Given the description of an element on the screen output the (x, y) to click on. 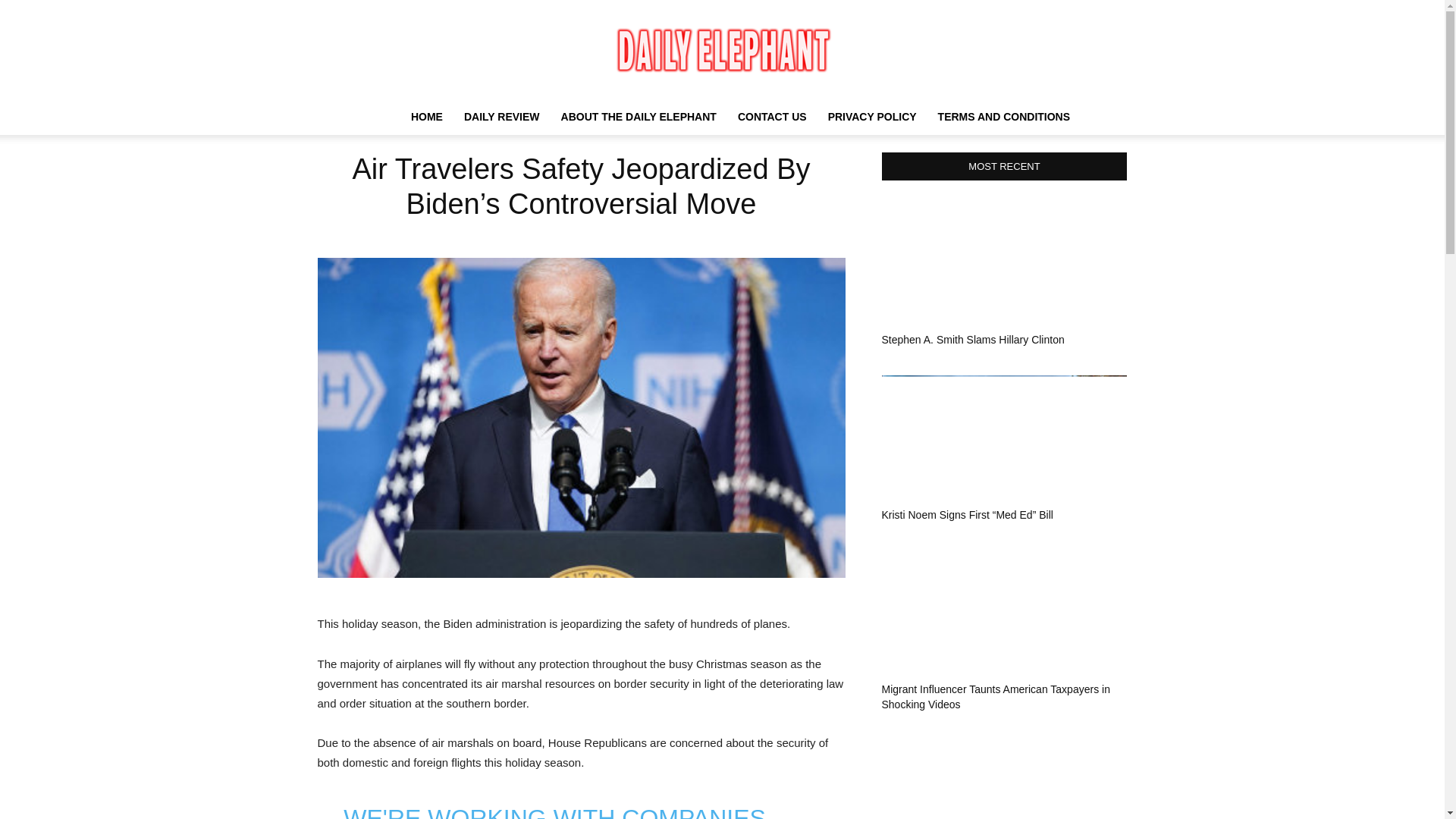
PRIVACY POLICY (871, 116)
TERMS AND CONDITIONS (1003, 116)
ABOUT THE DAILY ELEPHANT (638, 116)
The Daily Elephant (721, 50)
DAILY REVIEW (501, 116)
HOME (426, 116)
CONTACT US (771, 116)
